Given the description of an element on the screen output the (x, y) to click on. 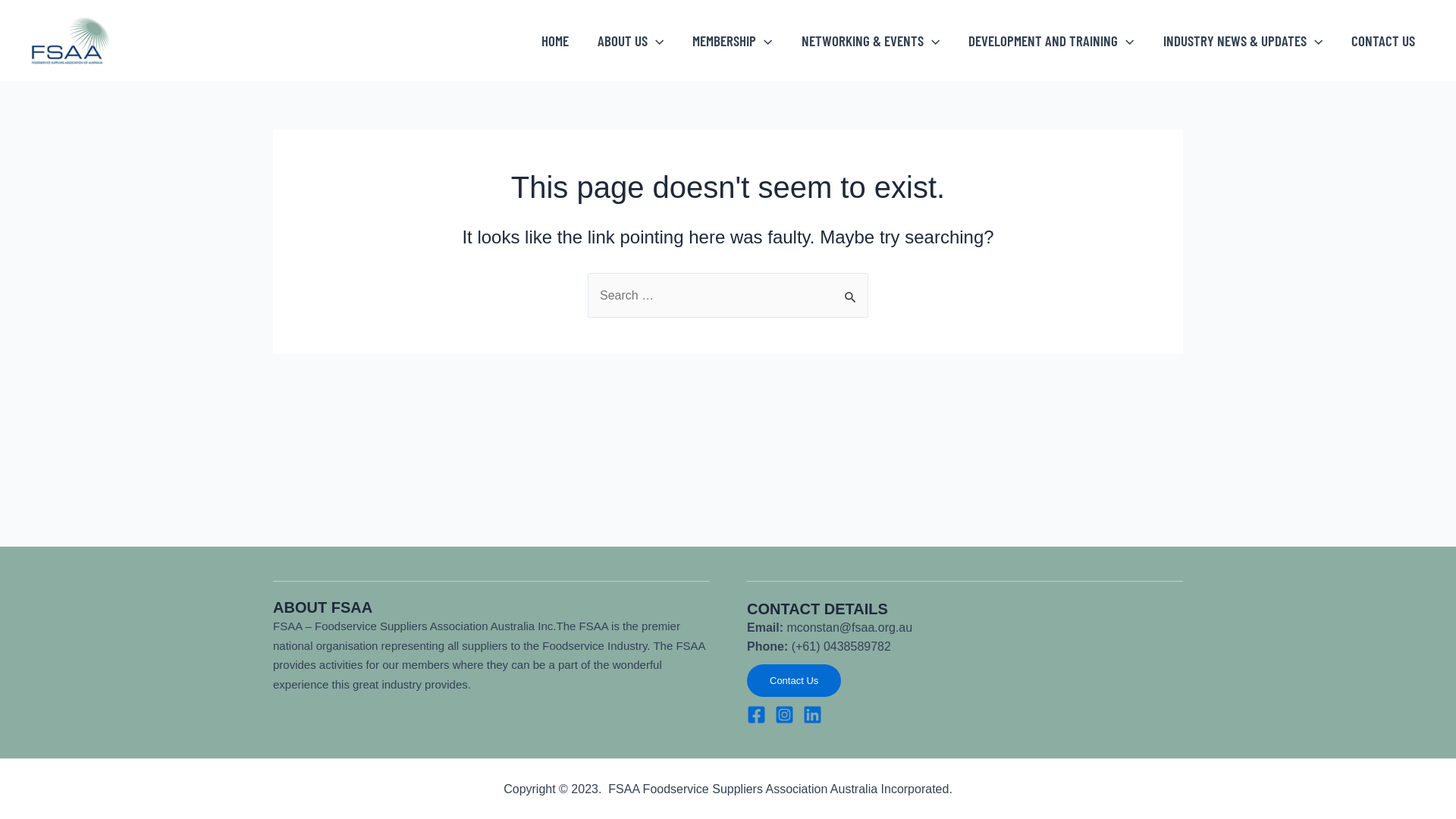
INDUSTRY NEWS & UPDATES Element type: text (1242, 40)
NETWORKING & EVENTS Element type: text (870, 40)
Search Element type: text (851, 288)
Contact Us Element type: text (793, 680)
CONTACT US Element type: text (1382, 40)
DEVELOPMENT AND TRAINING Element type: text (1050, 40)
ABOUT US Element type: text (630, 40)
HOME Element type: text (555, 40)
MEMBERSHIP Element type: text (731, 40)
